Given the description of an element on the screen output the (x, y) to click on. 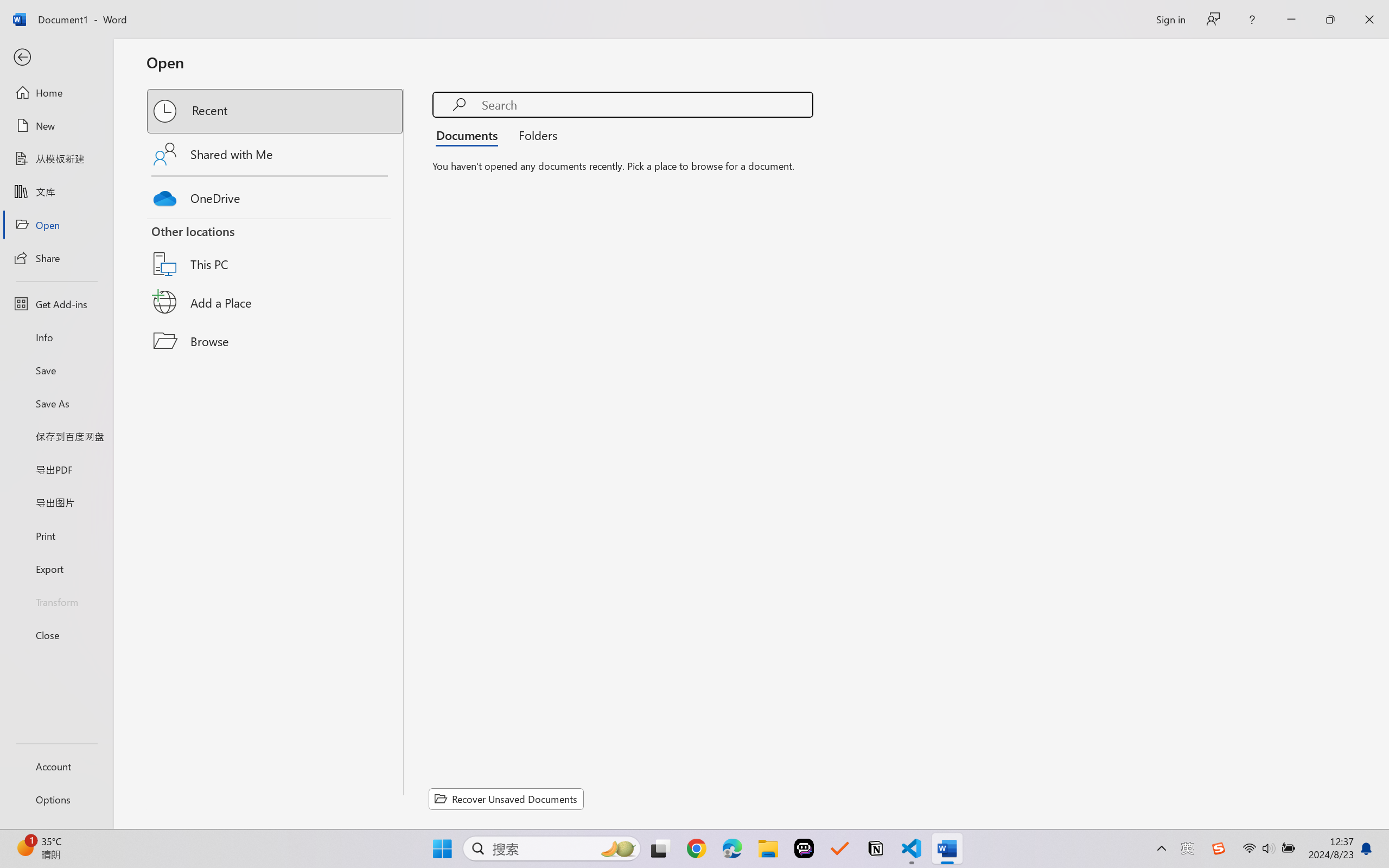
Export (56, 568)
Recent (275, 110)
Recover Unsaved Documents (506, 798)
Transform (56, 601)
New (56, 125)
Get Add-ins (56, 303)
